Given the description of an element on the screen output the (x, y) to click on. 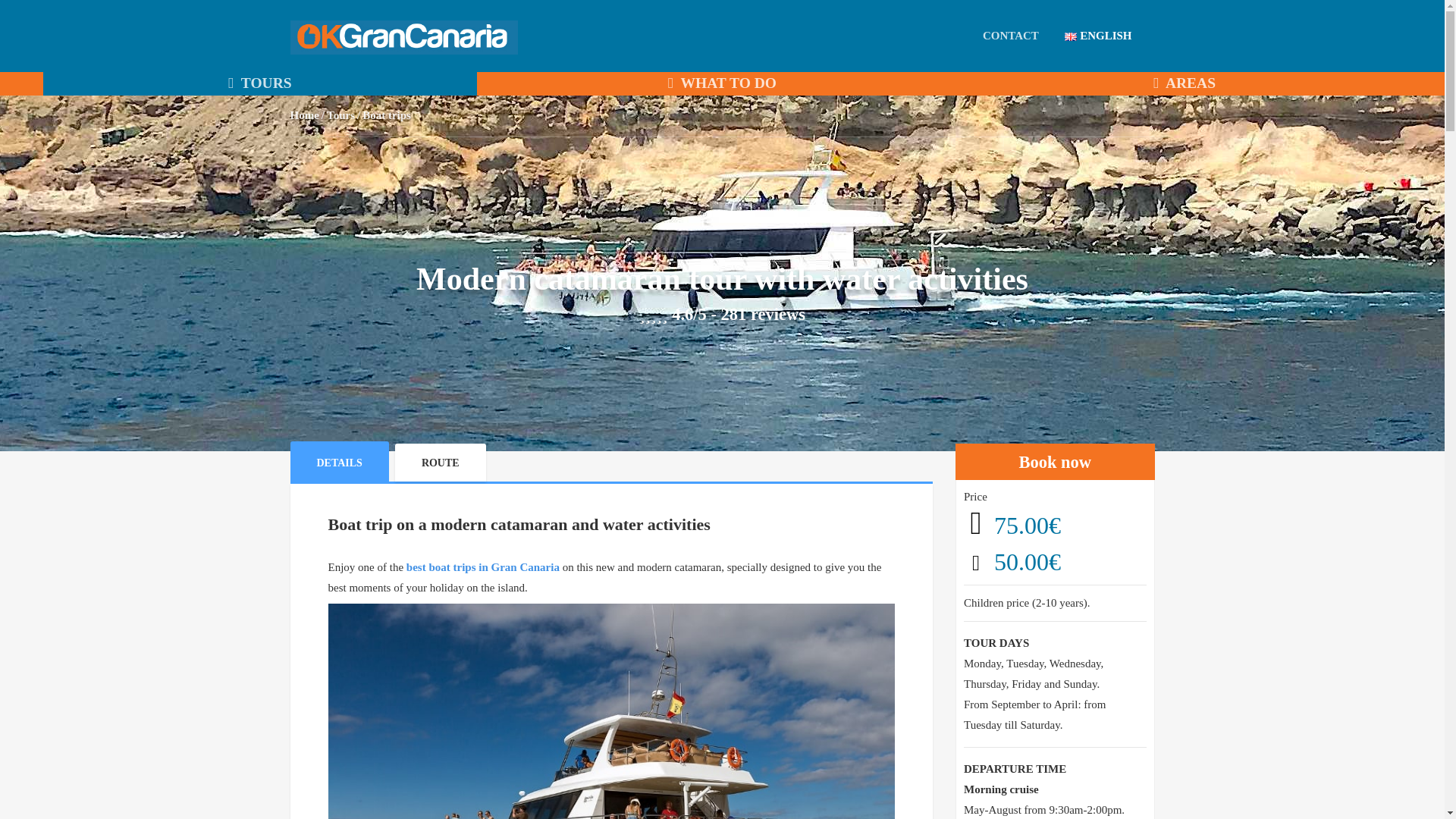
CONTACT (1010, 35)
